Given the description of an element on the screen output the (x, y) to click on. 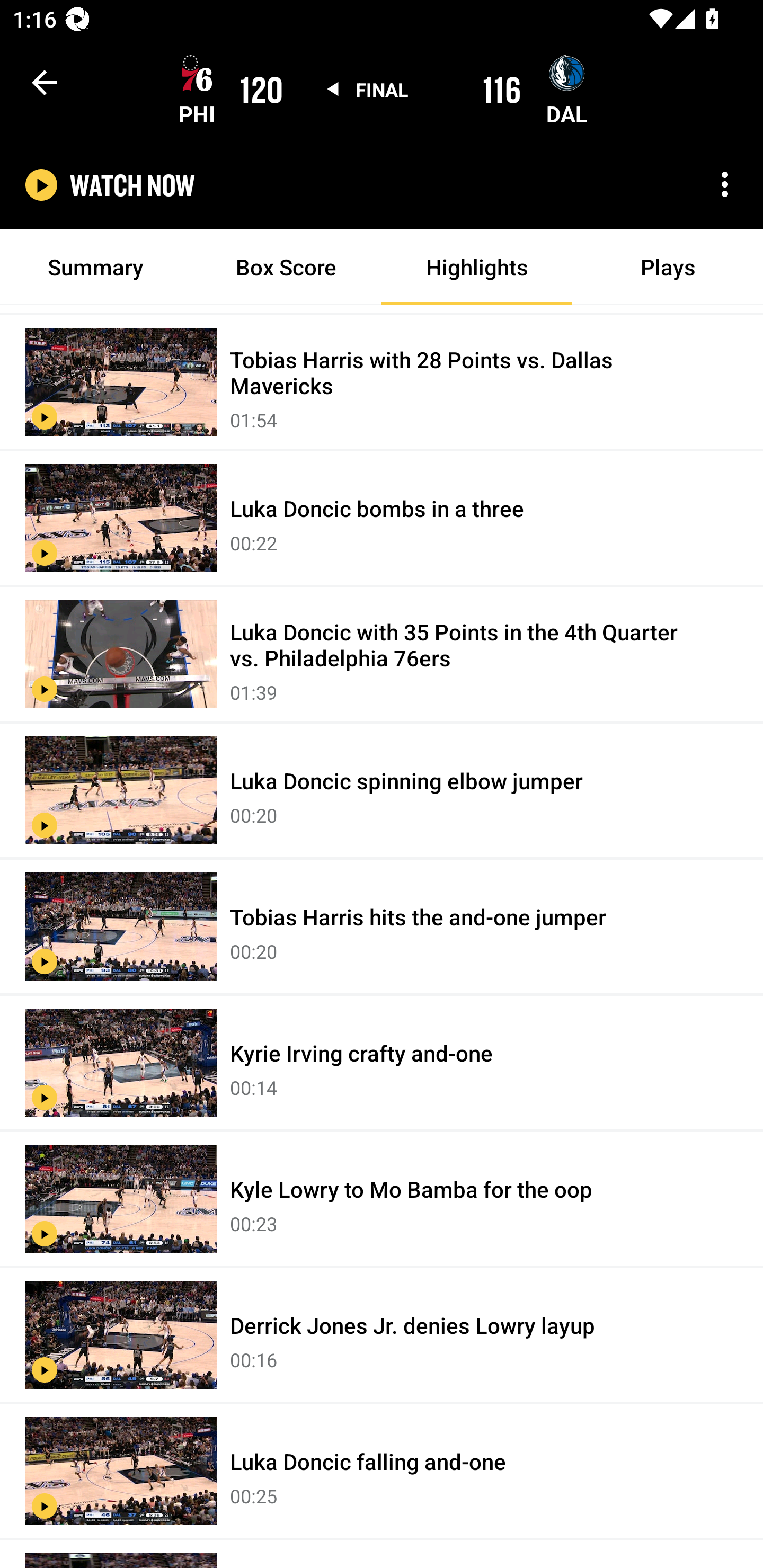
Navigate up (44, 82)
More options (724, 183)
WATCH NOW (132, 184)
Summary (95, 266)
Box Score (285, 266)
Plays (667, 266)
Luka Doncic bombs in a three 00:22 (381, 518)
Luka Doncic spinning elbow jumper 00:20 (381, 790)
Tobias Harris hits the and-one jumper 00:20 (381, 926)
Kyrie Irving crafty and-one 00:14 (381, 1062)
Kyle Lowry to Mo Bamba for the oop 00:23 (381, 1199)
Derrick Jones Jr. denies Lowry layup 00:16 (381, 1335)
Luka Doncic falling and-one 00:25 (381, 1471)
